Given the description of an element on the screen output the (x, y) to click on. 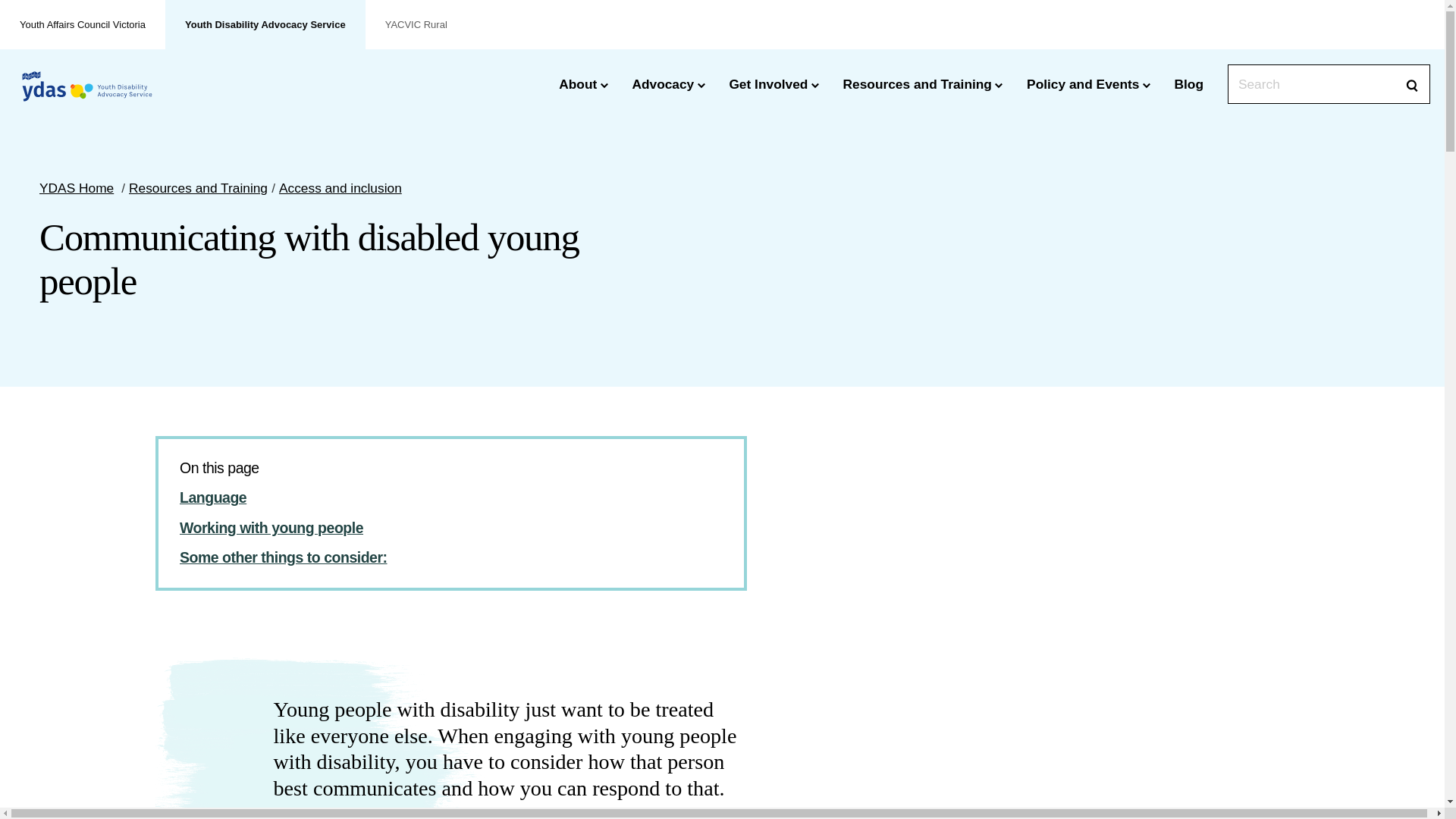
Access and inclusion Element type: text (340, 187)
Advocacy Element type: text (667, 83)
Resources and Training Element type: text (923, 83)
About Element type: text (582, 83)
Youth Disability Advocacy Service Element type: text (265, 24)
Language Element type: text (212, 497)
Youth Disability Advocacy Service Element type: text (87, 88)
YACVIC Rural Element type: text (416, 24)
Some other things to consider: Element type: text (283, 557)
Working with young people Element type: text (271, 527)
Youth Affairs Council Victoria Element type: text (82, 24)
Blog Element type: text (1189, 83)
YDAS Home Element type: text (76, 187)
Policy and Events Element type: text (1088, 83)
Search Element type: text (1413, 85)
Resources and Training Element type: text (197, 187)
Get Involved Element type: text (773, 83)
